Given the description of an element on the screen output the (x, y) to click on. 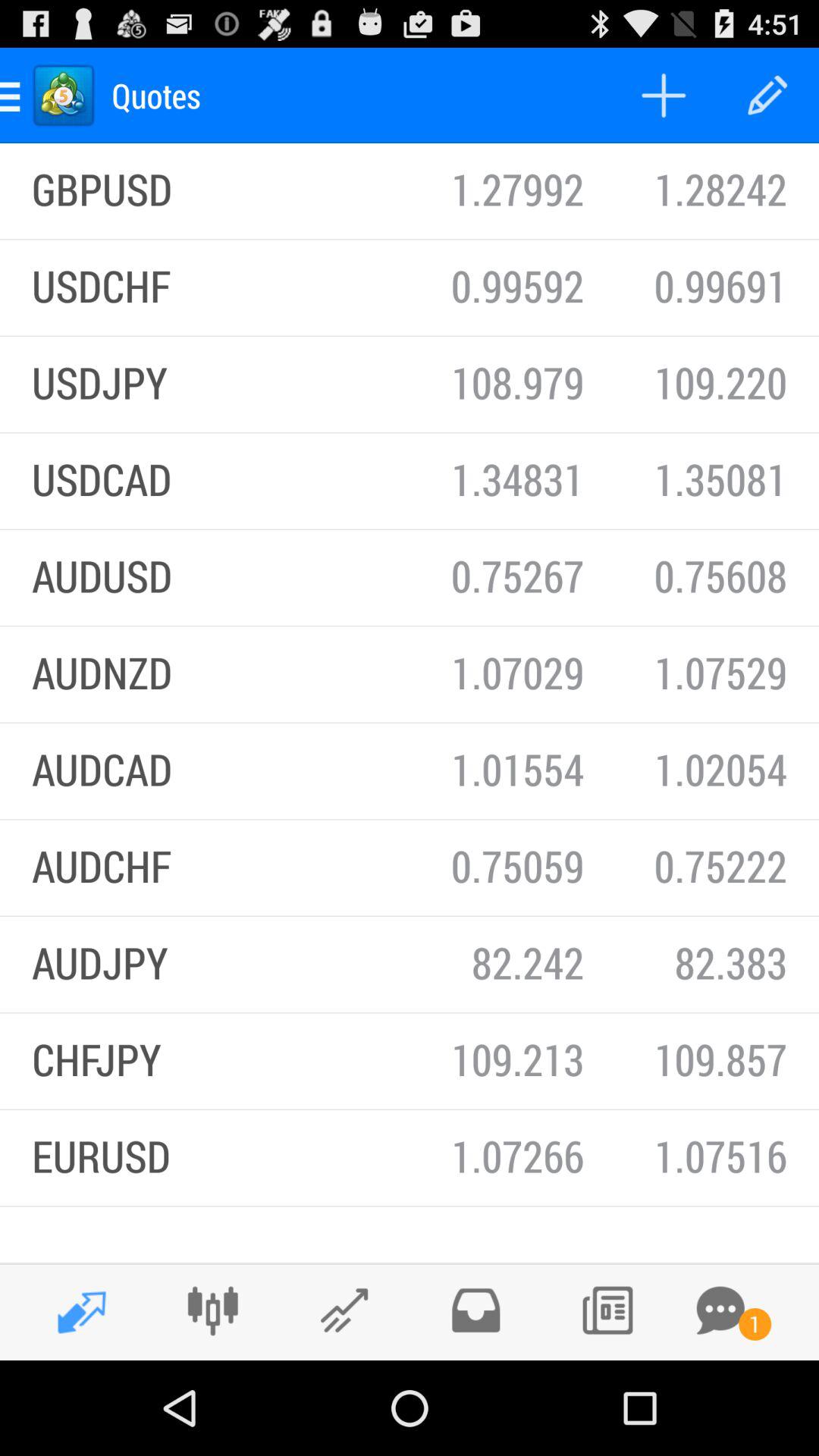
puss the button (606, 1310)
